Given the description of an element on the screen output the (x, y) to click on. 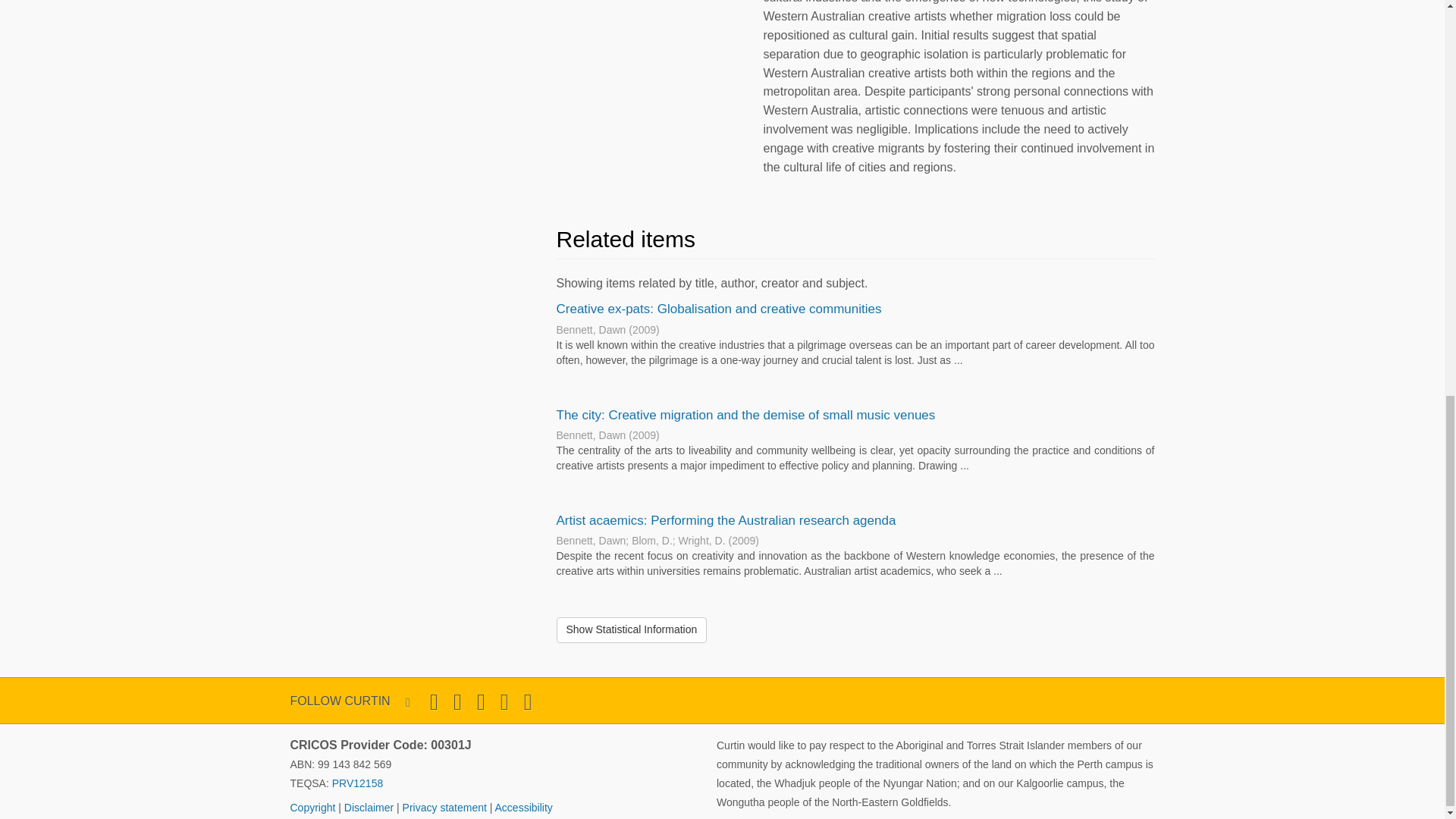
Follow Curtin University on Instagram (480, 701)
Follow Curtin University on YouTube (504, 701)
Creative ex-pats: Globalisation and creative communities (719, 309)
Show Statistical Information (631, 629)
Follow Curtin University on Twitter (433, 701)
Follow Curtin University on LinkedIn (528, 701)
Like Curtin University on Facebook (456, 701)
Artist acaemics: Performing the Australian research agenda (726, 520)
